Given the description of an element on the screen output the (x, y) to click on. 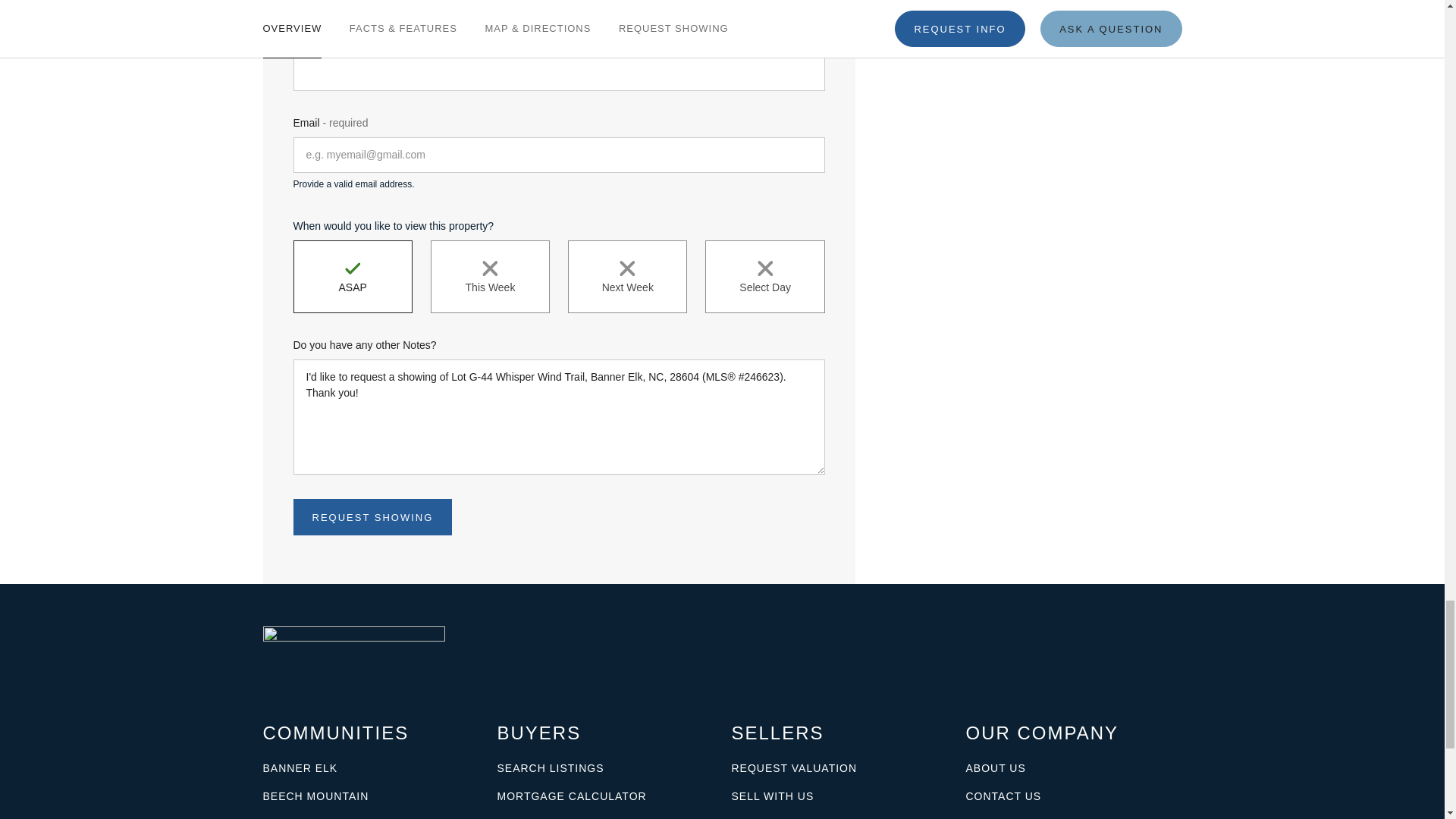
This Week (490, 276)
ASAP (352, 276)
Next Week (627, 276)
